Given the description of an element on the screen output the (x, y) to click on. 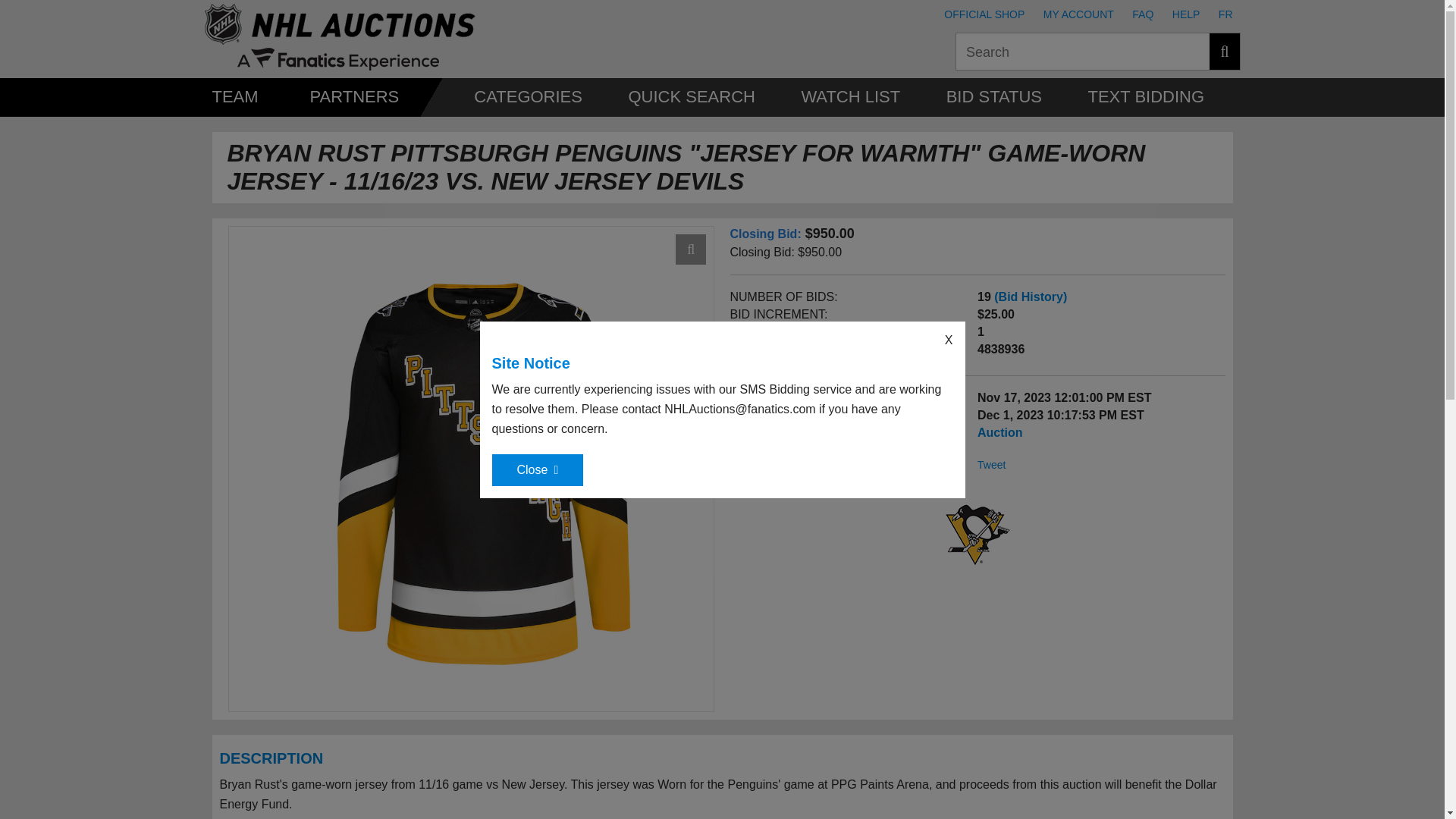
TEAM (235, 96)
HELP (1185, 14)
OFFICIAL SHOP (984, 14)
FAQ (1142, 14)
FR (1225, 14)
MY ACCOUNT (1078, 14)
